Given the description of an element on the screen output the (x, y) to click on. 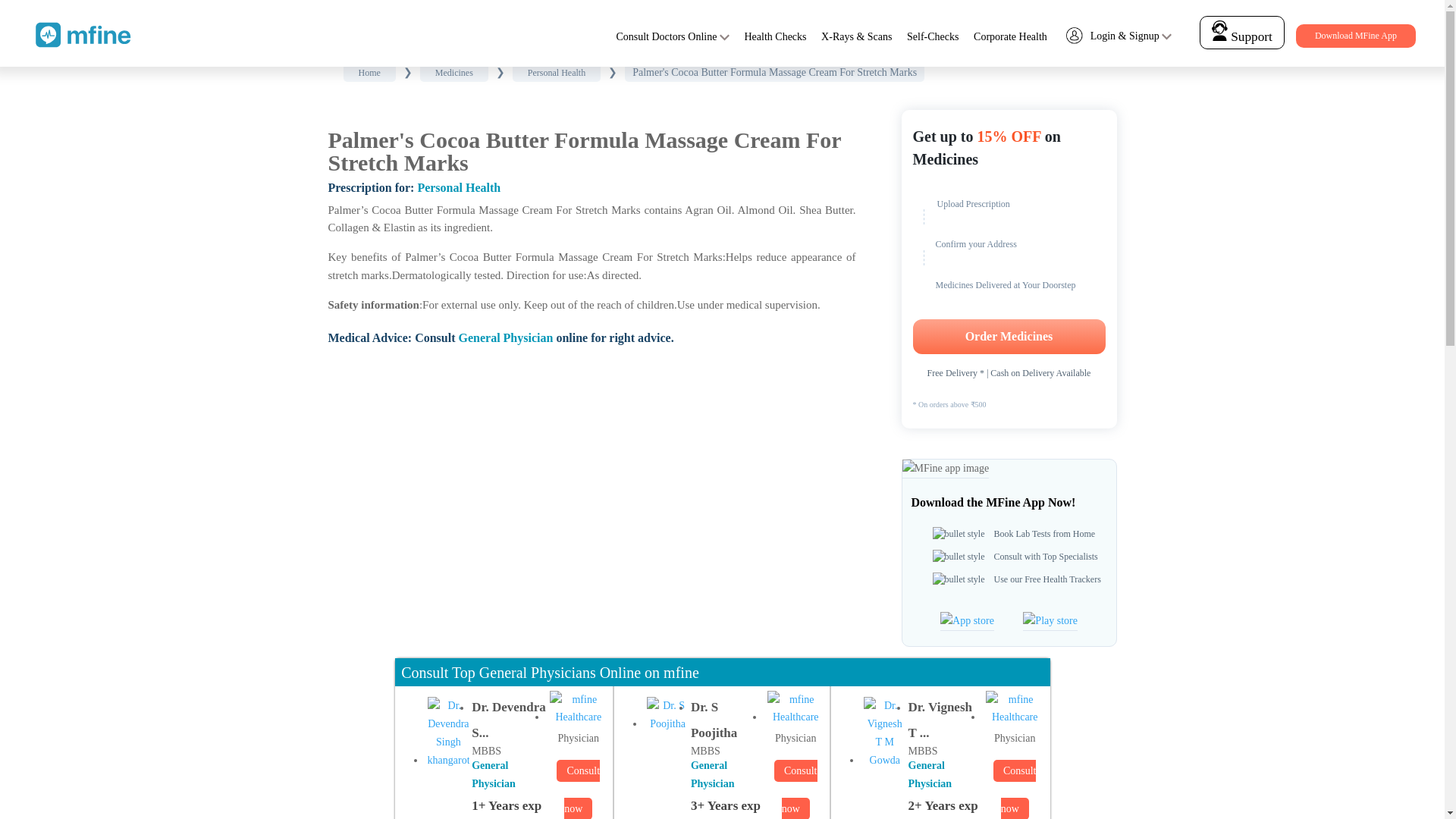
Corporate Health (1010, 36)
Consult Doctors Online (665, 36)
Download MFine App (1355, 35)
Support (1241, 32)
Self-Checks (932, 36)
Support (1241, 36)
Health Checks (775, 36)
